Given the description of an element on the screen output the (x, y) to click on. 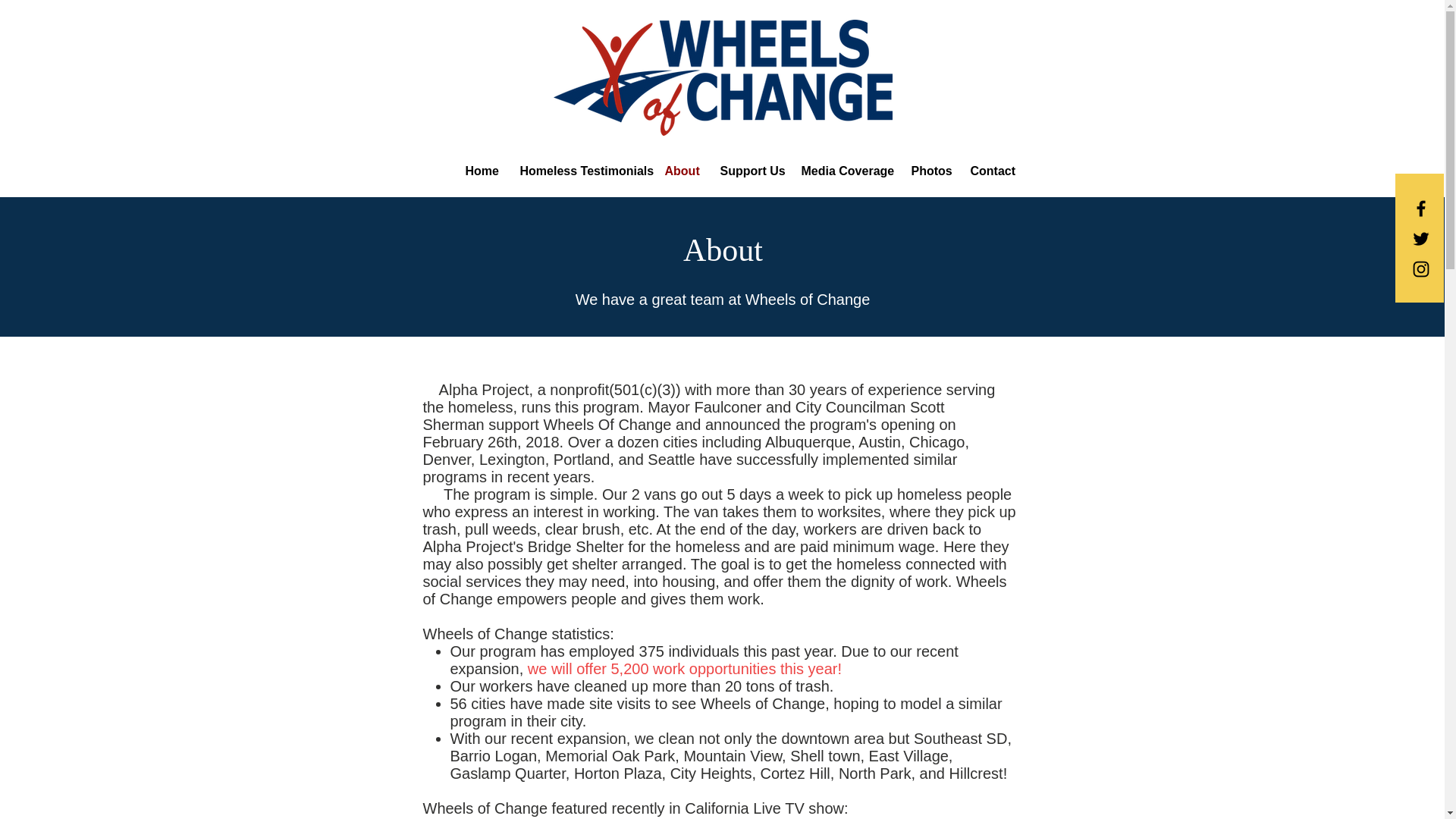
Contact (990, 170)
Support Us (748, 170)
We have a great team at Wheels of Change (722, 299)
About (681, 170)
Photos (928, 170)
Home (480, 170)
Homeless Testimonials (580, 170)
Media Coverage (844, 170)
